Given the description of an element on the screen output the (x, y) to click on. 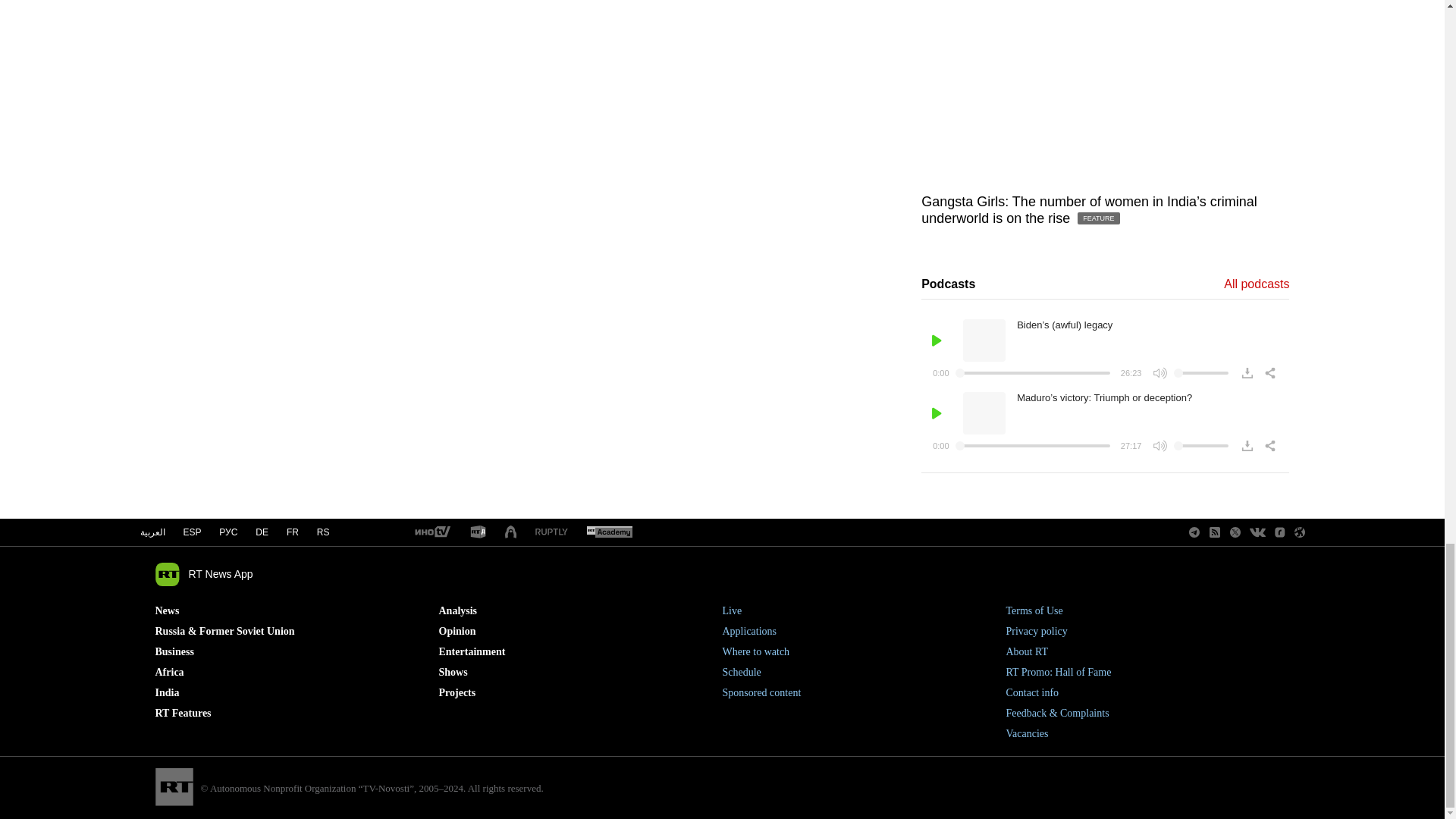
RT  (478, 532)
RT  (551, 532)
RT  (608, 532)
RT  (431, 532)
